Given the description of an element on the screen output the (x, y) to click on. 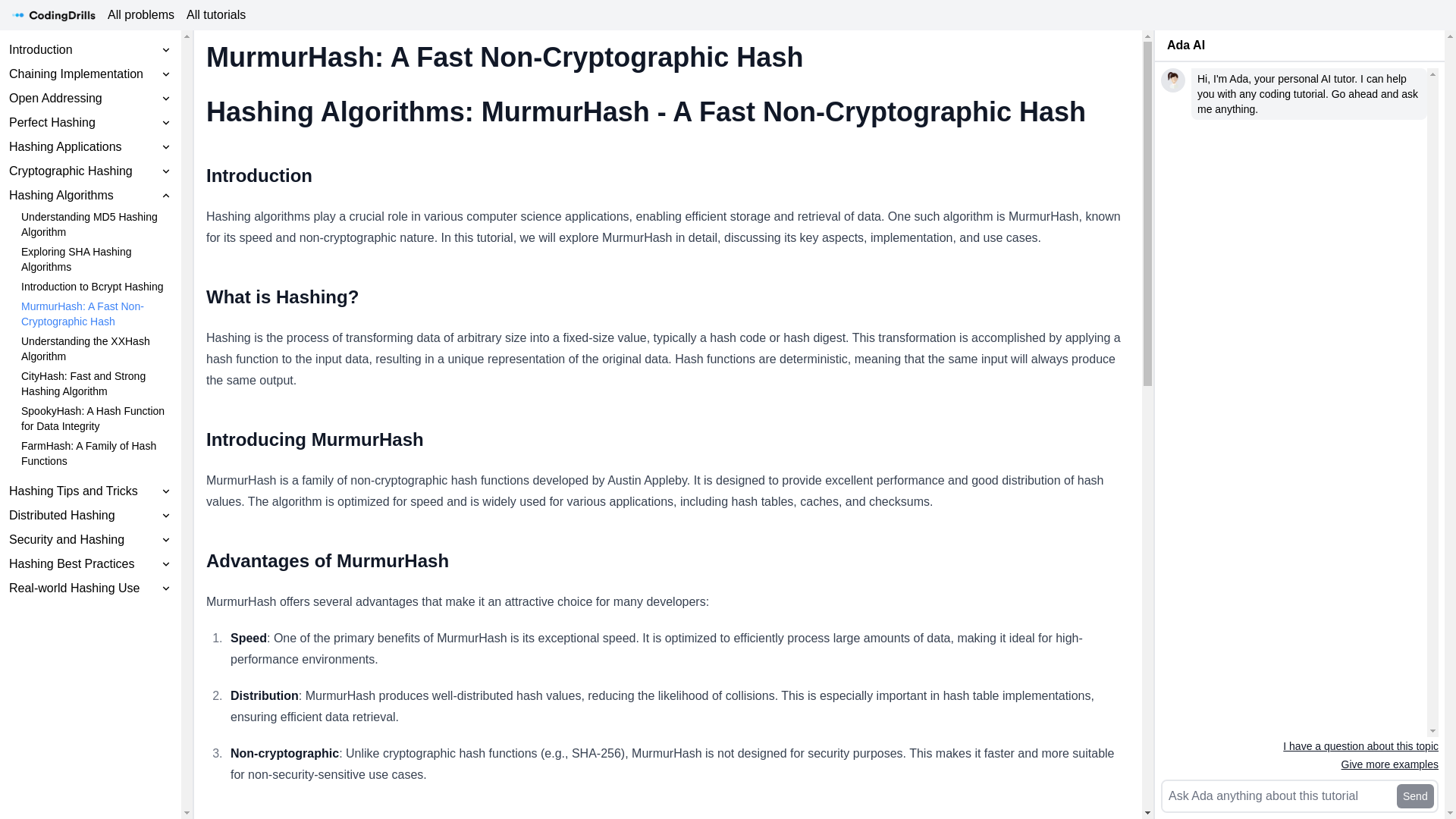
Introduction to Bcrypt Hashing (96, 286)
CityHash: Fast and Strong Hashing Algorithm (96, 383)
SpookyHash: A Hash Function for Data Integrity (96, 418)
All tutorials (215, 14)
Understanding MD5 Hashing Algorithm (96, 224)
All problems (140, 14)
Understanding the XXHash Algorithm (96, 348)
FarmHash: A Family of Hash Functions (96, 453)
Exploring SHA Hashing Algorithms (96, 259)
MurmurHash: A Fast Non-Cryptographic Hash (96, 313)
